Given the description of an element on the screen output the (x, y) to click on. 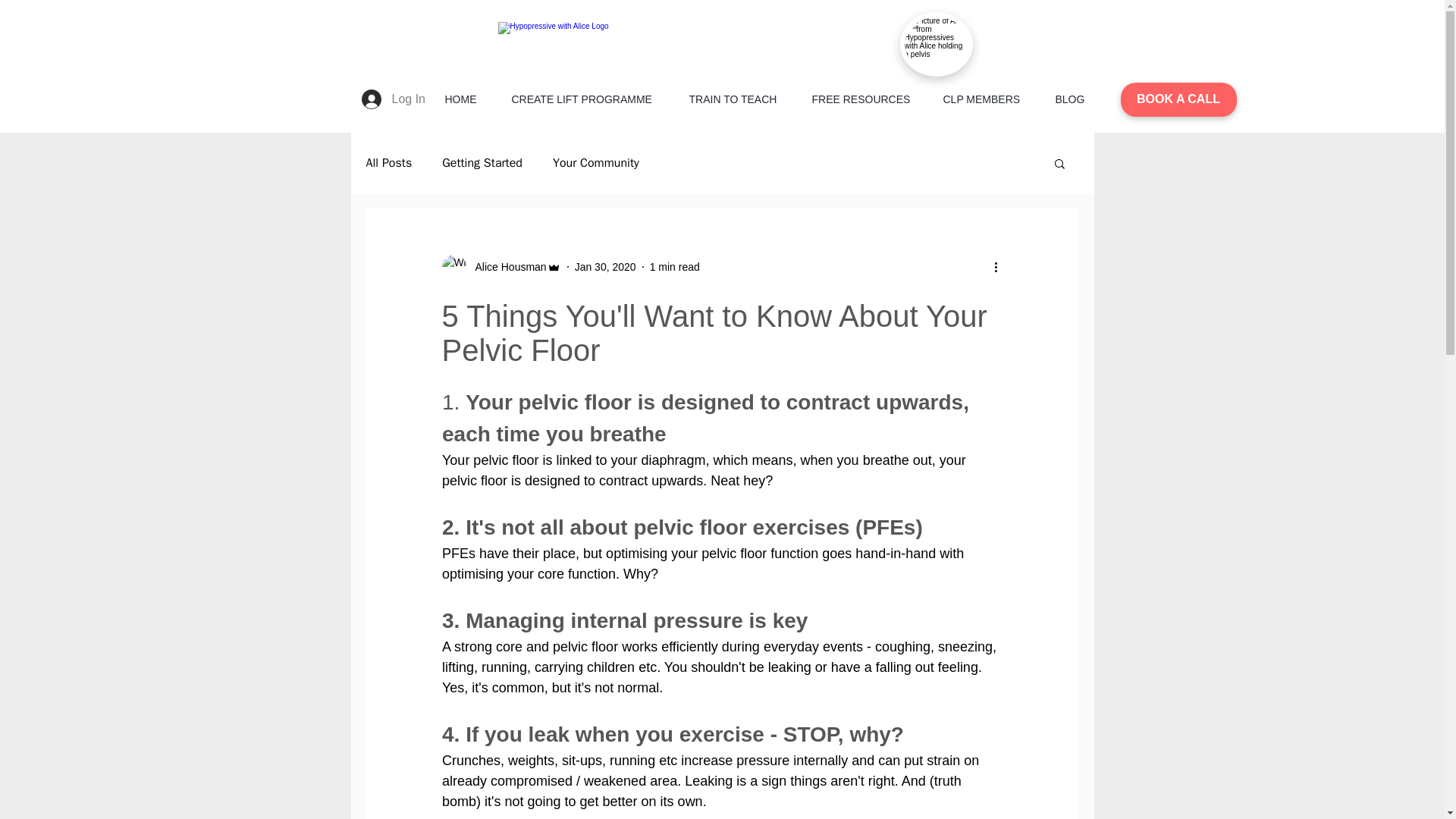
Getting Started (482, 162)
Log In (389, 99)
BOOK A CALL (1178, 99)
Jan 30, 2020 (605, 266)
HOME (469, 99)
All Posts (388, 162)
1 min read (674, 266)
FREE RESOURCES (868, 99)
CREATE LIFT PROGRAMME (592, 99)
Your Community (596, 162)
Untitled design-18.png (935, 44)
Alice Housman (505, 267)
CLP MEMBERS (992, 99)
TRAIN TO TEACH (742, 99)
Alice Housman (500, 266)
